Given the description of an element on the screen output the (x, y) to click on. 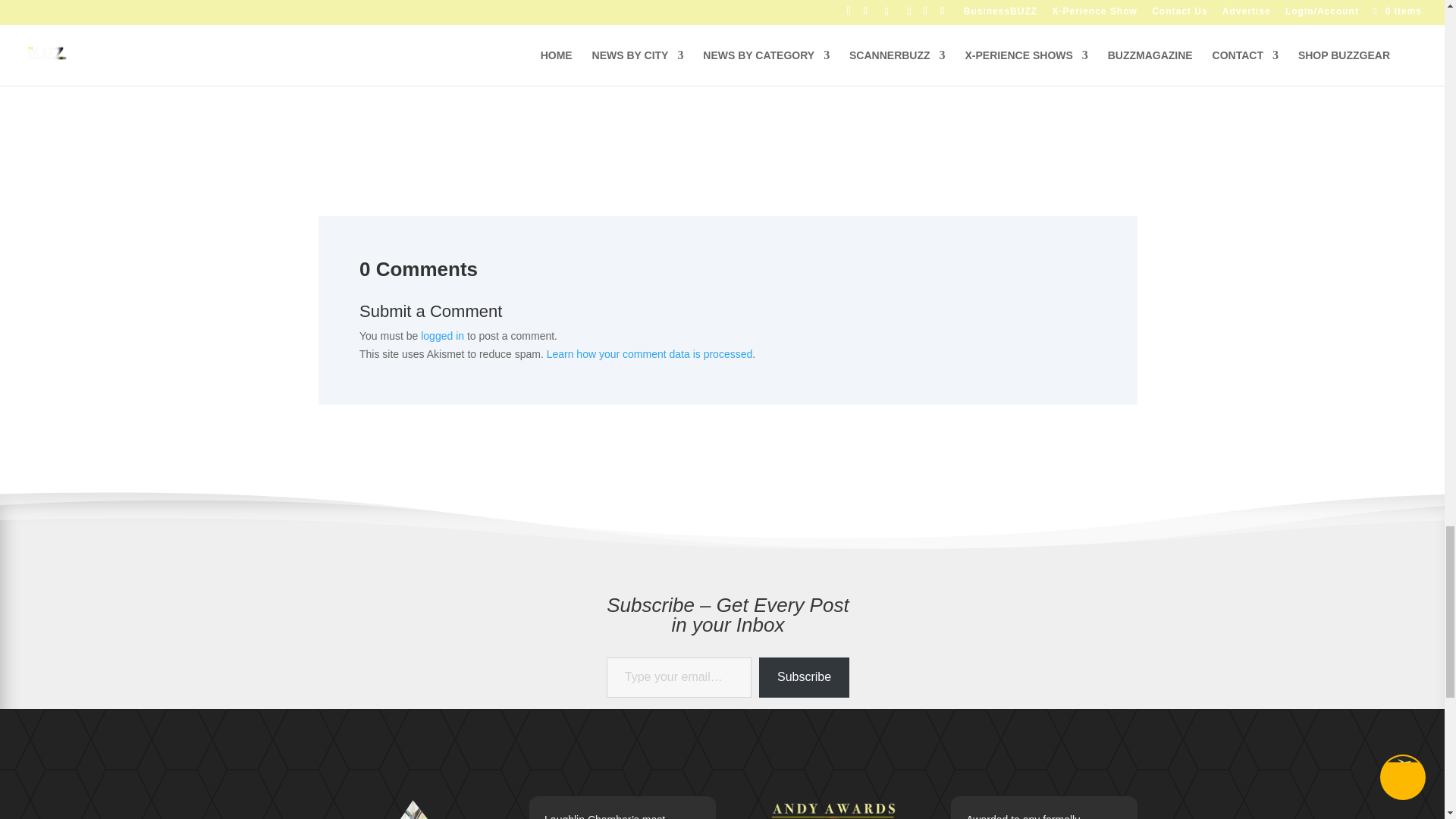
Communtiy acheivement Award 400x (411, 807)
2021 Andy Awards - Business of the Year 2 copy (832, 807)
Please fill in this field. (679, 677)
